Given the description of an element on the screen output the (x, y) to click on. 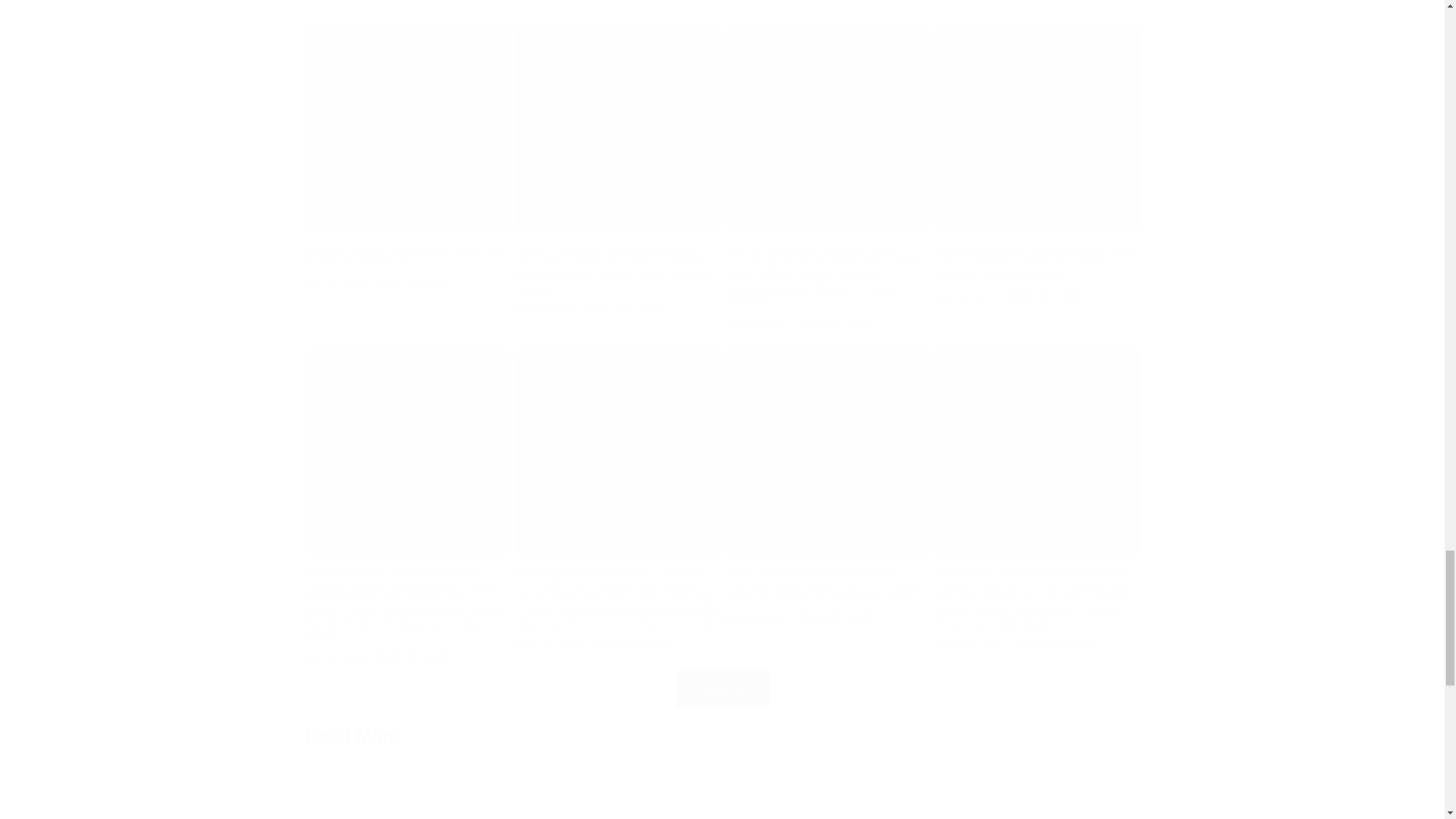
Read More (351, 736)
